Given the description of an element on the screen output the (x, y) to click on. 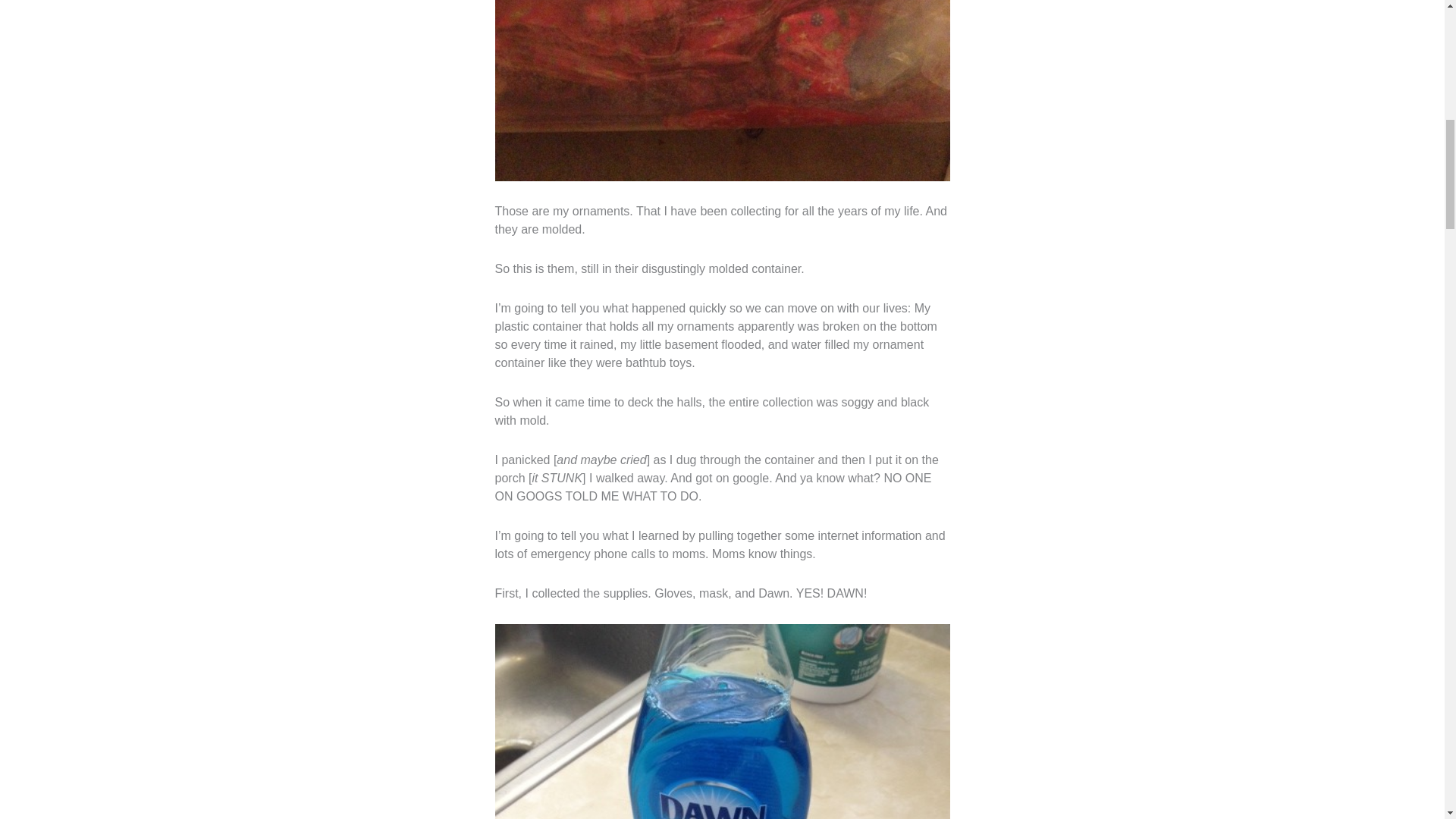
photo 1 (722, 90)
gear (722, 721)
